Given the description of an element on the screen output the (x, y) to click on. 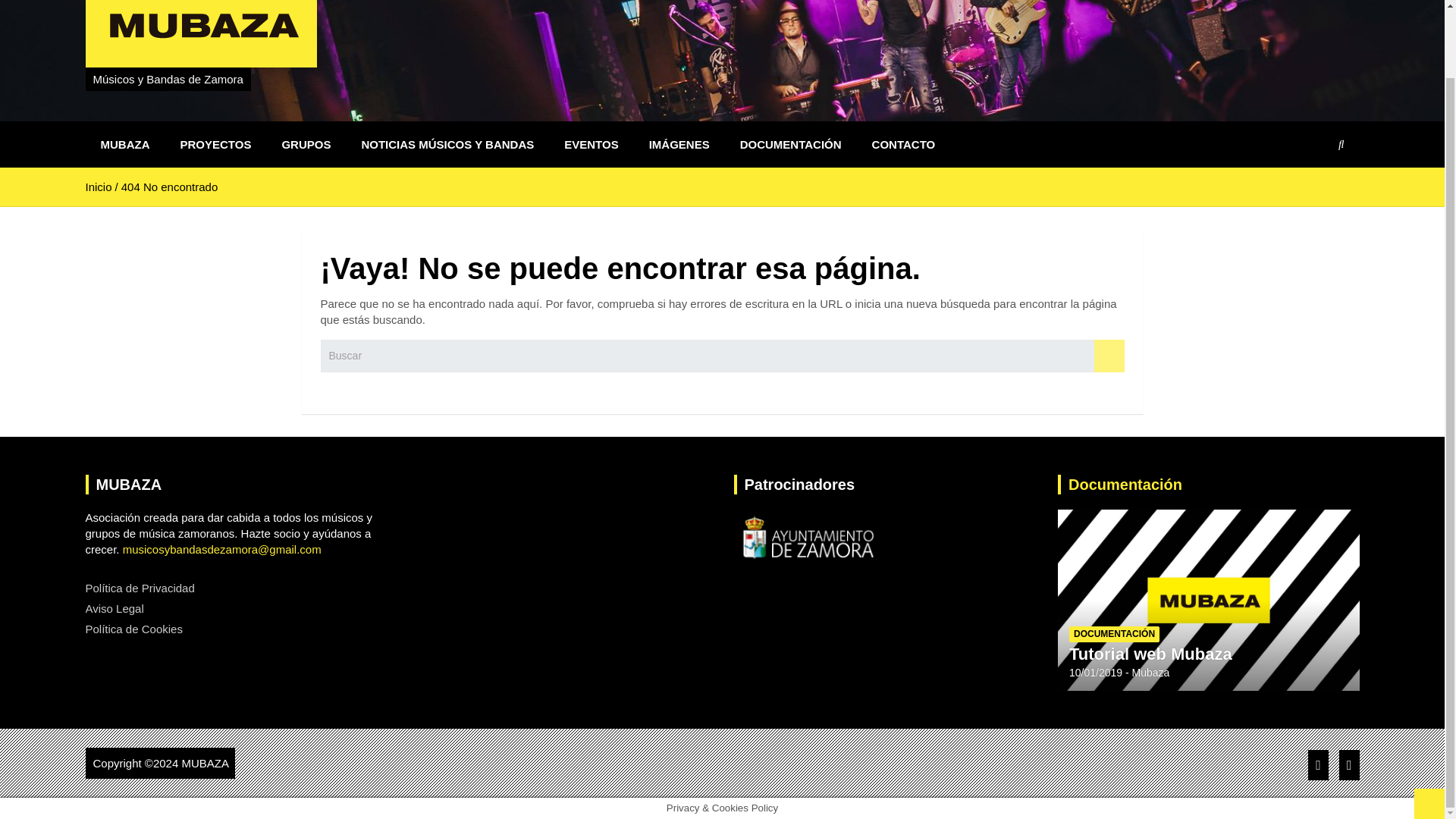
Inicio (98, 186)
Buscar (1108, 355)
MUBAZA (204, 762)
Aviso Legal (113, 608)
GRUPOS (306, 144)
Tutorial web Mubaza (1149, 653)
Mubaza (1151, 672)
CONTACTO (903, 144)
EVENTOS (590, 144)
MUBAZA (124, 144)
MUBAZA (204, 762)
Tutorial web Mubaza (1095, 672)
PROYECTOS (215, 144)
